Given the description of an element on the screen output the (x, y) to click on. 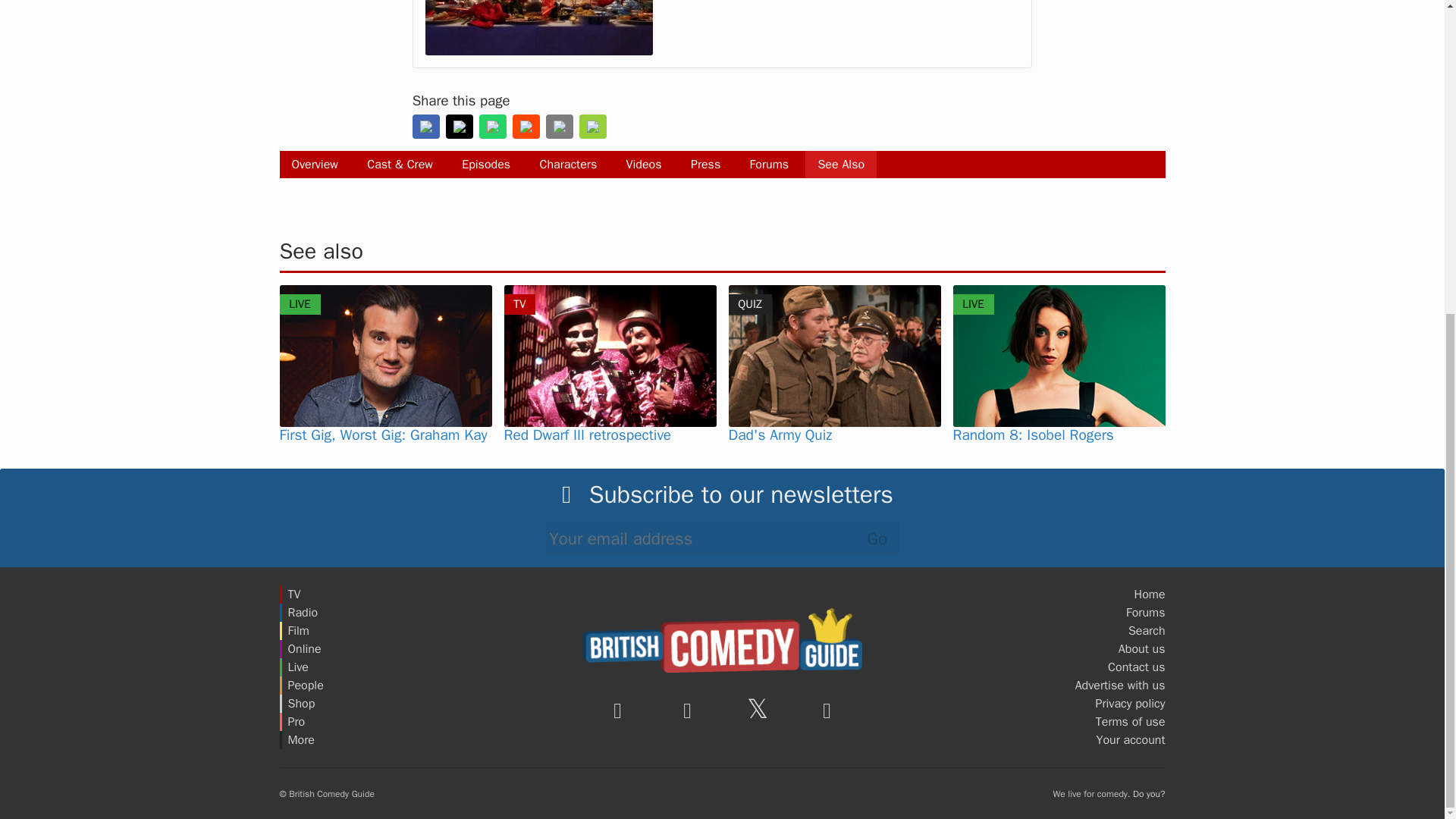
Graham Kay (385, 355)
Overview (314, 163)
Isobel Rogers (1058, 355)
